Given the description of an element on the screen output the (x, y) to click on. 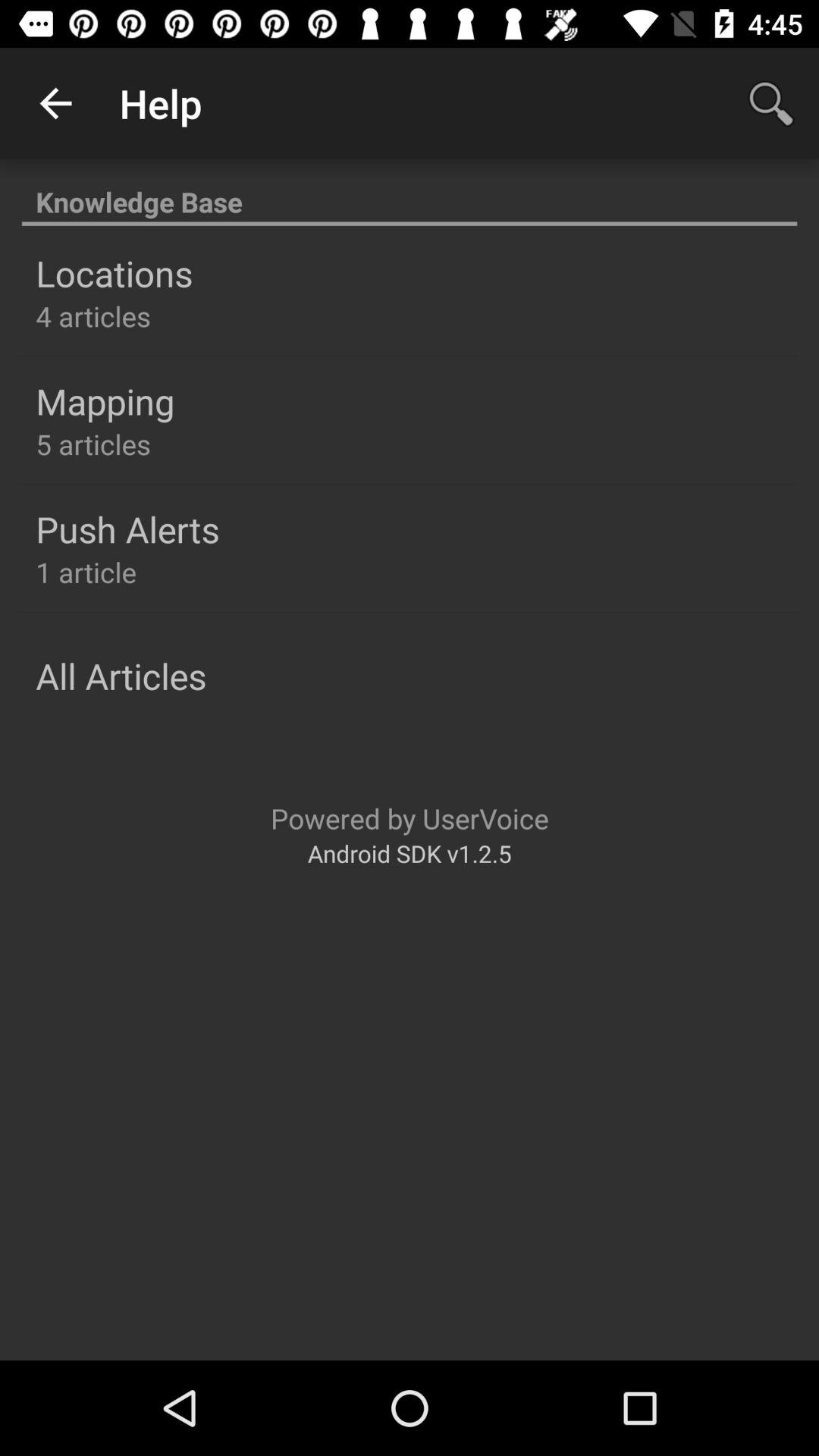
press the icon above 4 articles icon (113, 273)
